Given the description of an element on the screen output the (x, y) to click on. 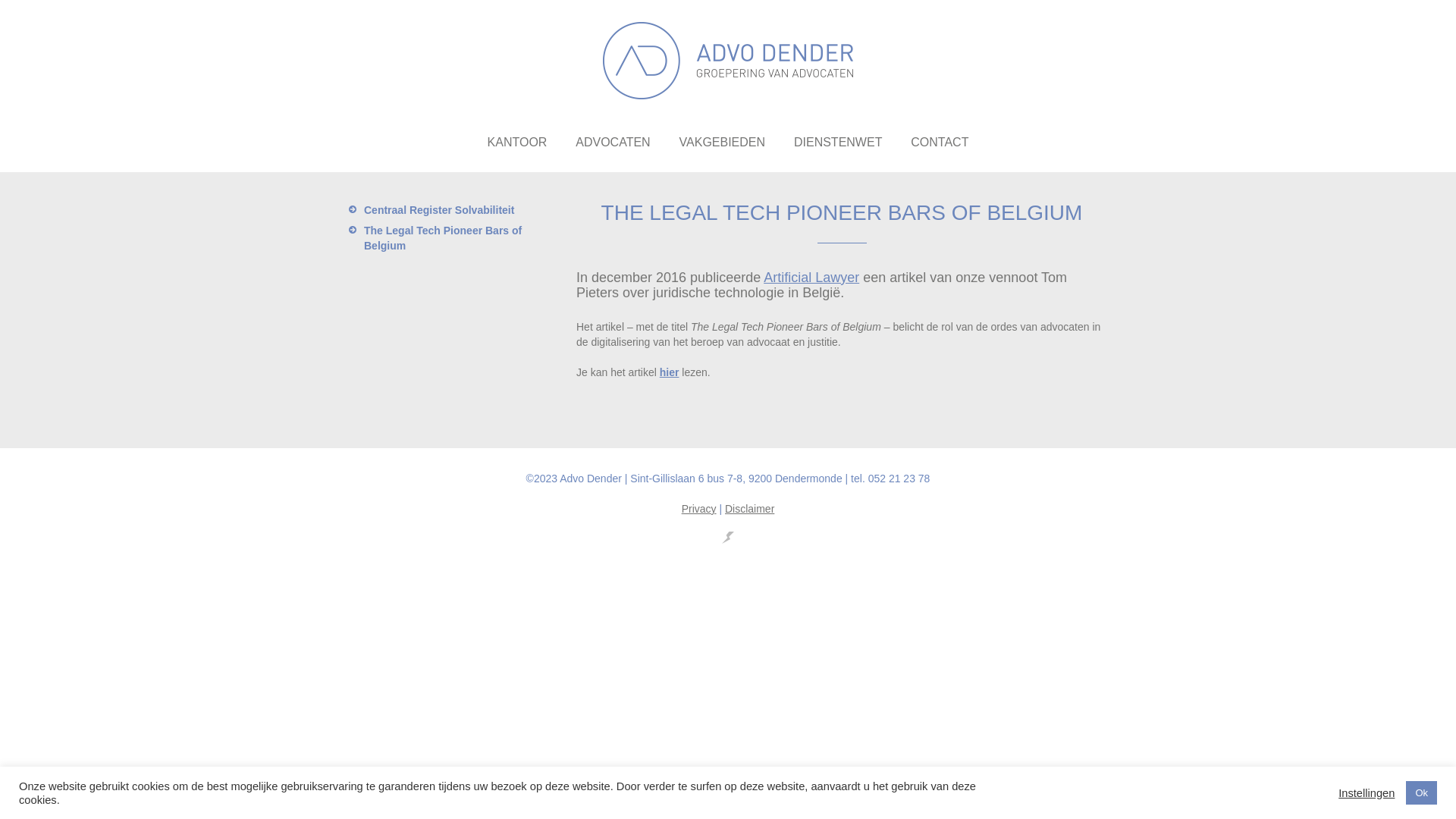
KANTOOR Element type: text (517, 146)
CONTACT Element type: text (939, 146)
DIENSTENWET Element type: text (837, 146)
hier Element type: text (669, 372)
Artificial Lawyer Element type: text (811, 277)
Ok Element type: text (1421, 792)
Disclaimer Element type: text (749, 508)
Centraal Register Solvabiliteit Element type: text (462, 209)
Instellingen Element type: text (1366, 792)
Privacy Element type: text (698, 508)
The Legal Tech Pioneer Bars of Belgium Element type: text (462, 237)
ADVOCATEN Element type: text (612, 146)
VAKGEBIEDEN Element type: text (722, 146)
